Given the description of an element on the screen output the (x, y) to click on. 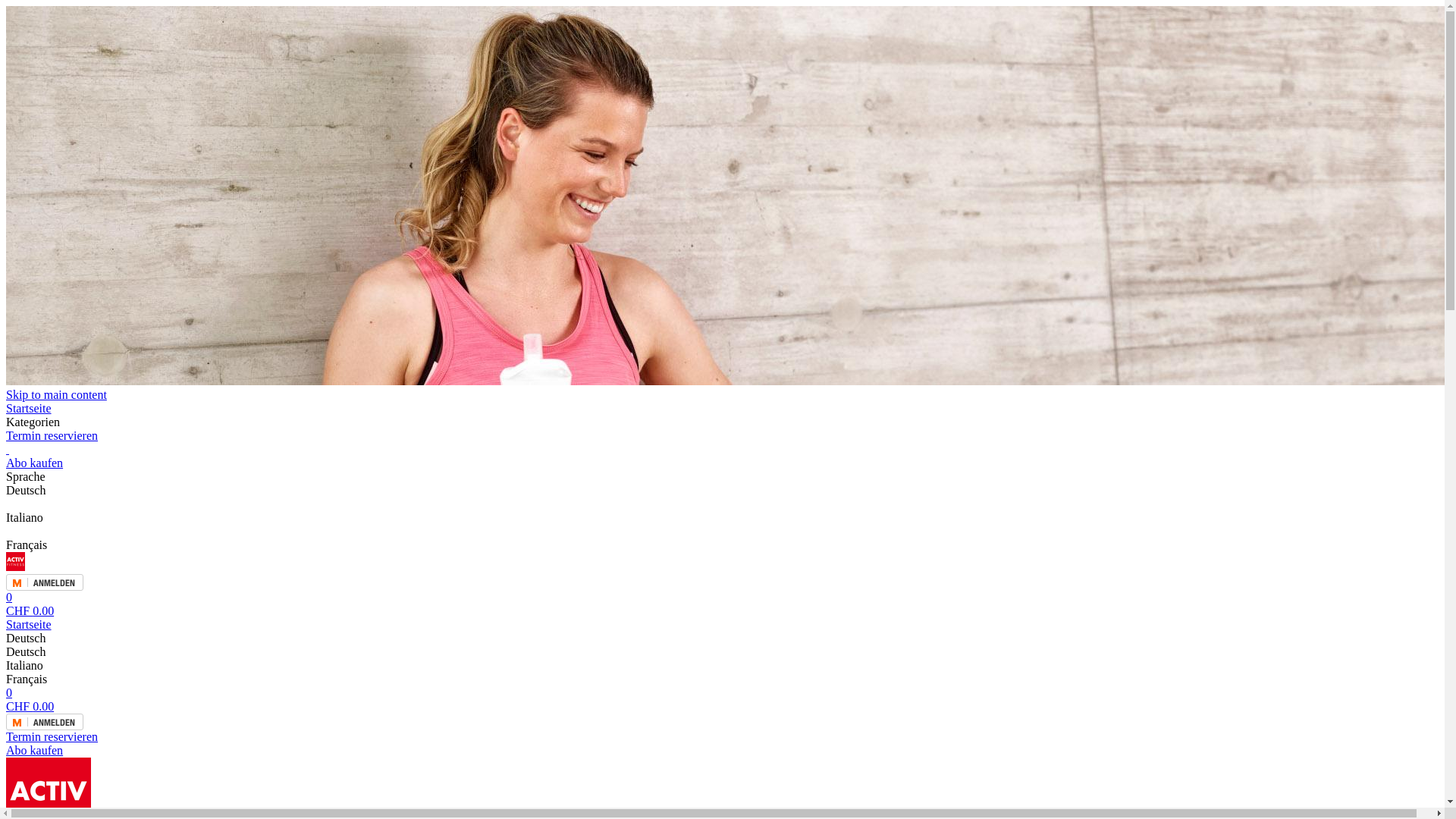
Startseite Element type: text (722, 624)
0
CHF 0.00 Element type: text (722, 699)
  Abo kaufen Element type: text (722, 456)
Abo kaufen Element type: text (722, 750)
ANMELDEN Element type: text (722, 728)
Termin reservieren Element type: text (722, 736)
ANMELDEN Element type: text (722, 582)
Startseite Element type: text (722, 408)
Skip to main content Element type: text (56, 394)
Termin reservieren Element type: text (722, 435)
0
CHF 0.00 Element type: text (722, 603)
